Given the description of an element on the screen output the (x, y) to click on. 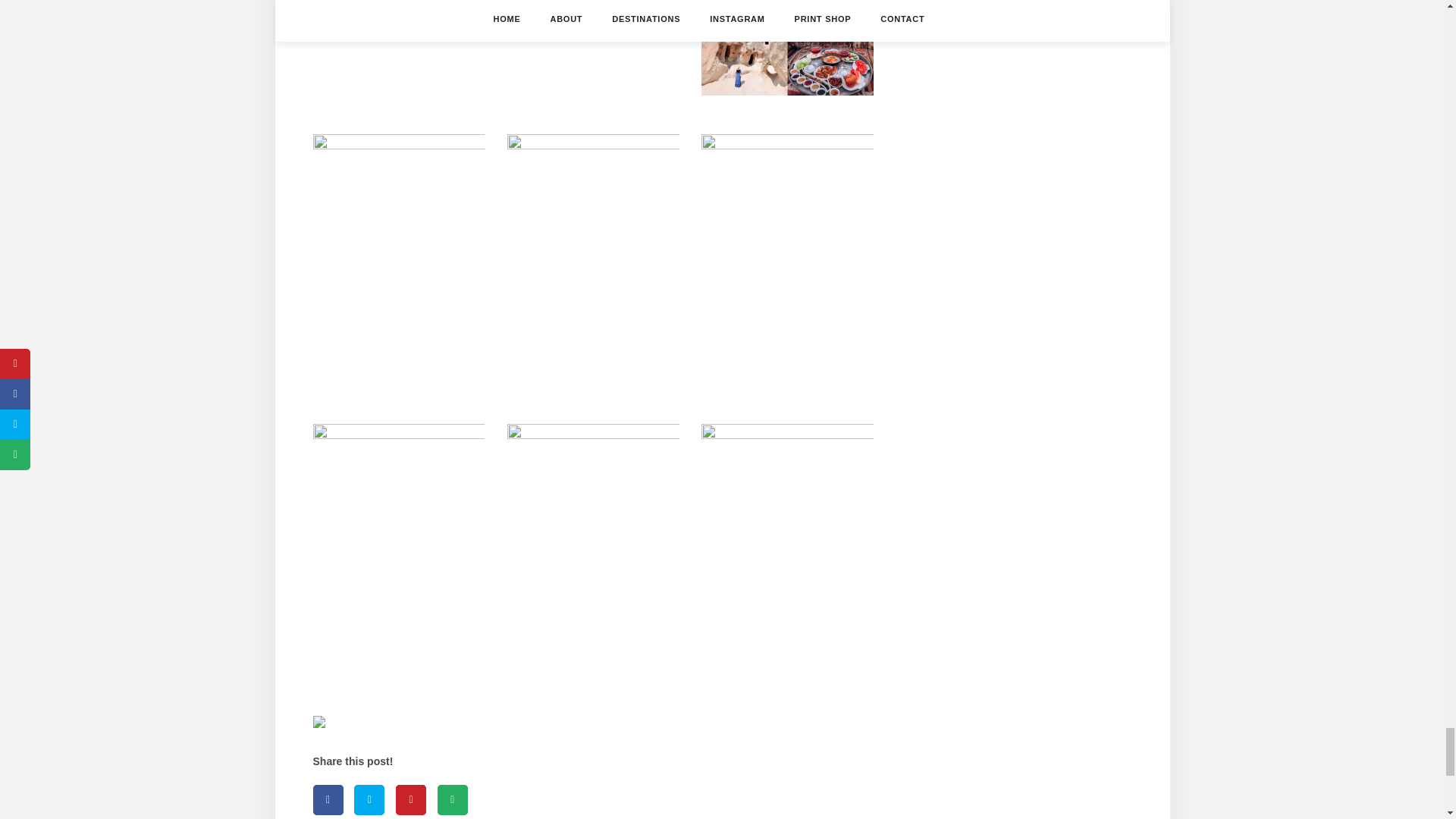
Share on Facebook (327, 799)
Send over email (452, 799)
Share on Twitter (368, 799)
Save to Pinterest (411, 799)
